Given the description of an element on the screen output the (x, y) to click on. 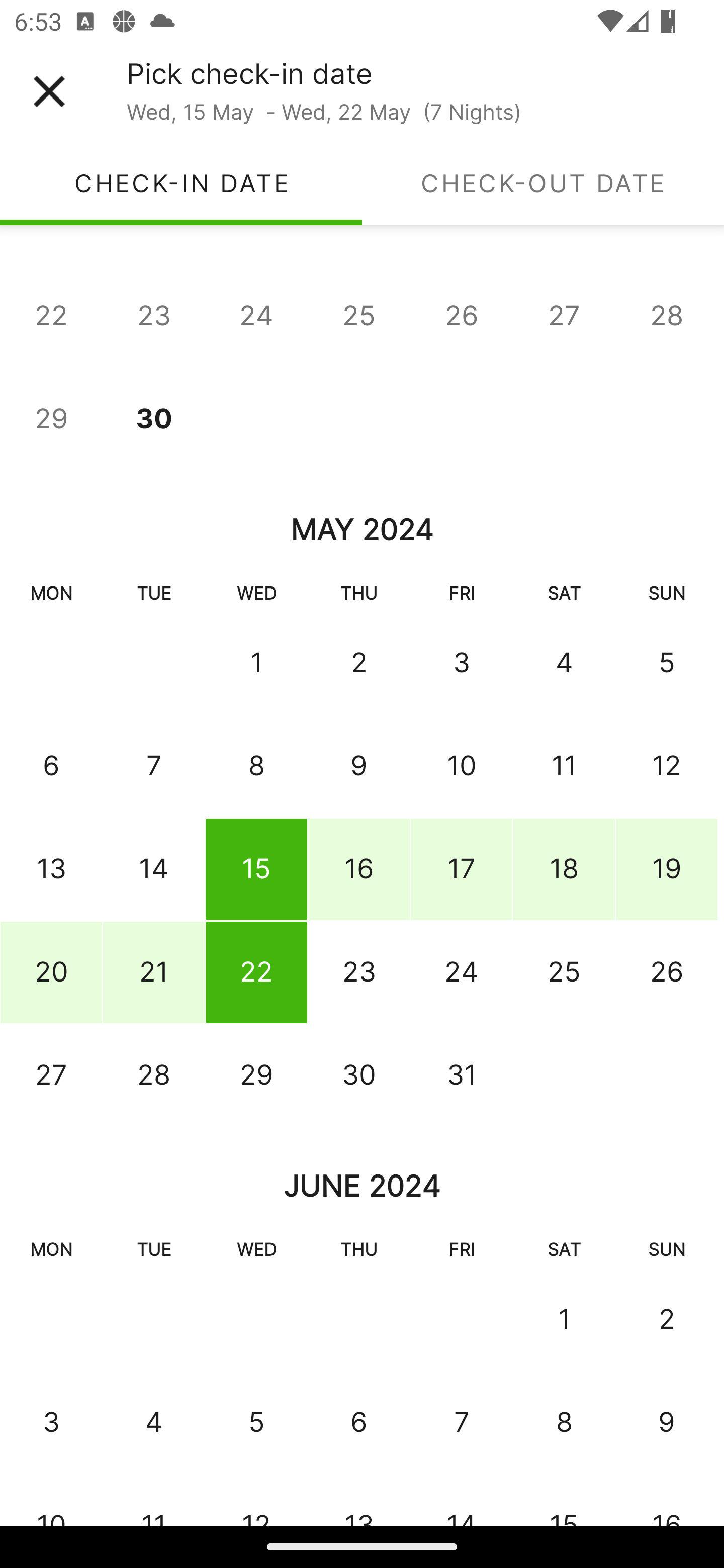
Check-out Date CHECK-OUT DATE (543, 183)
